Given the description of an element on the screen output the (x, y) to click on. 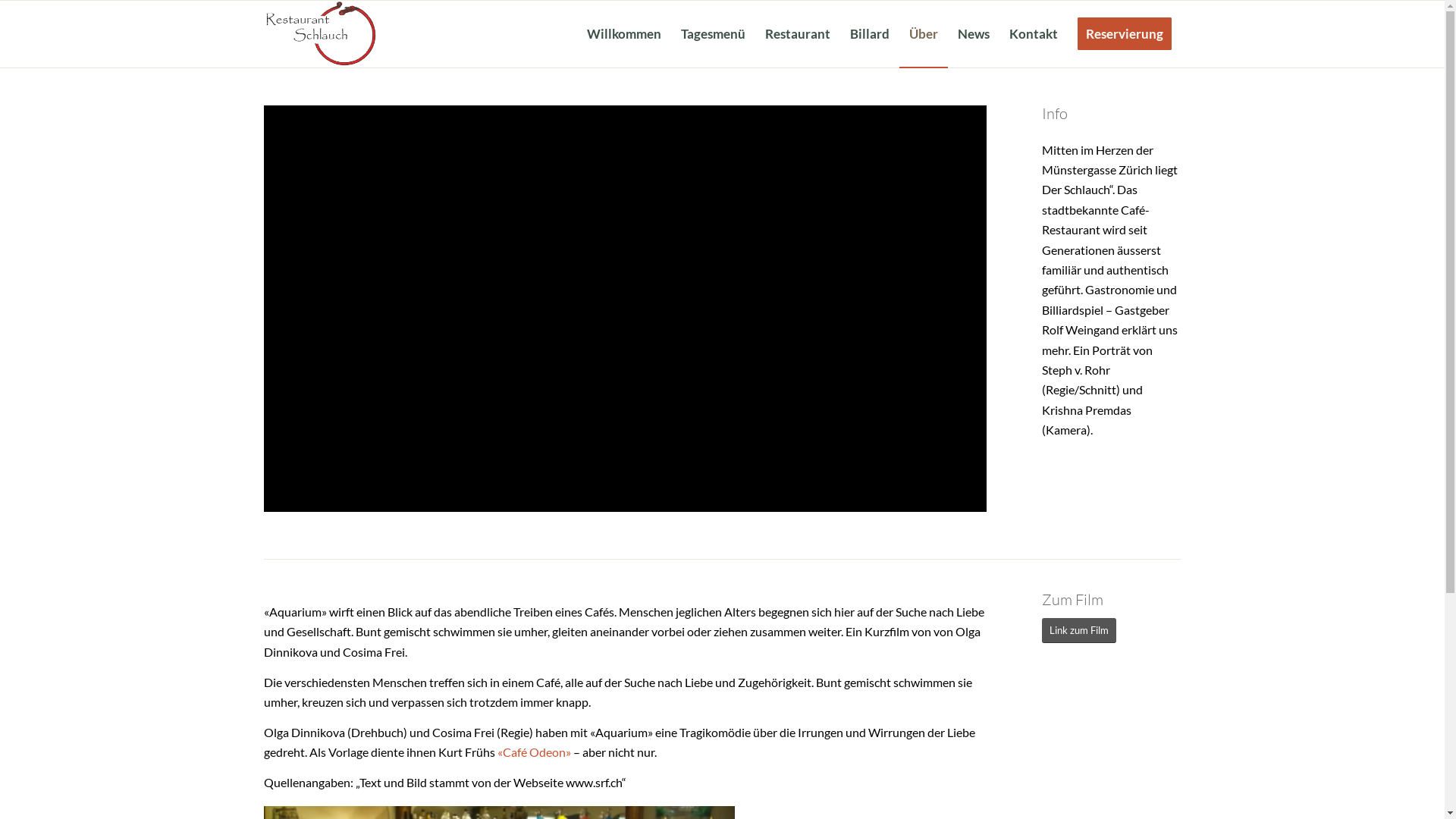
Restaurant Element type: text (797, 33)
Rolf Weingand - Bei Kaffee und Kugeln Element type: hover (624, 308)
002 Element type: hover (322, 33)
Kontakt Element type: text (1033, 33)
Billard Element type: text (869, 33)
Willkommen Element type: text (623, 33)
News Element type: text (973, 33)
Reservierung Element type: text (1124, 33)
Link zum Film Element type: text (1078, 630)
